Given the description of an element on the screen output the (x, y) to click on. 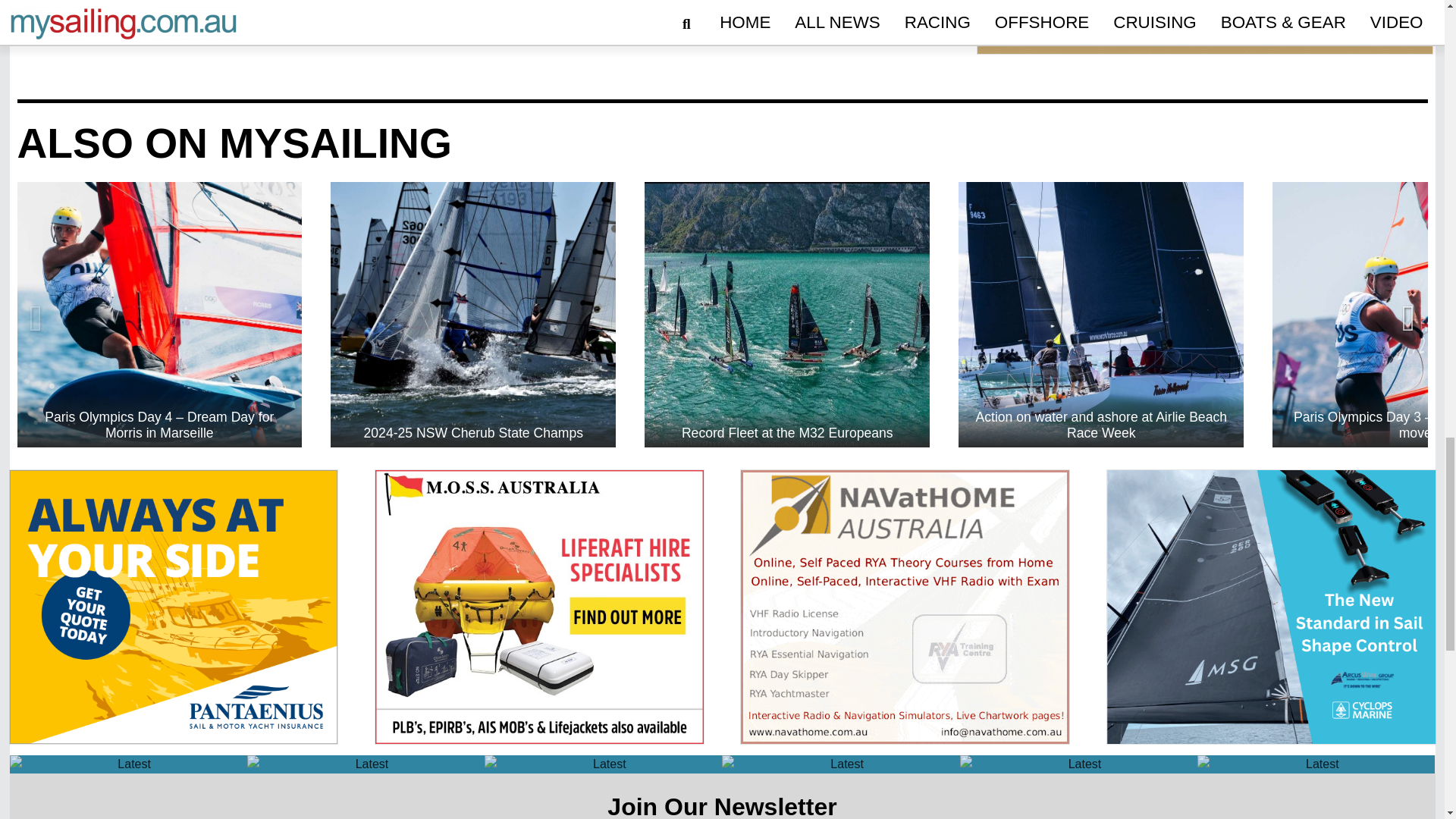
Advertise With Us (899, 626)
Action on water and ashore at Airlie Beach Race Week (1100, 43)
Contact Us (899, 653)
Editorial (899, 708)
2024-25 NSW Cherub State Champs (472, 43)
About Us (899, 680)
Record Fleet at the M32 Europeans (787, 43)
